Given the description of an element on the screen output the (x, y) to click on. 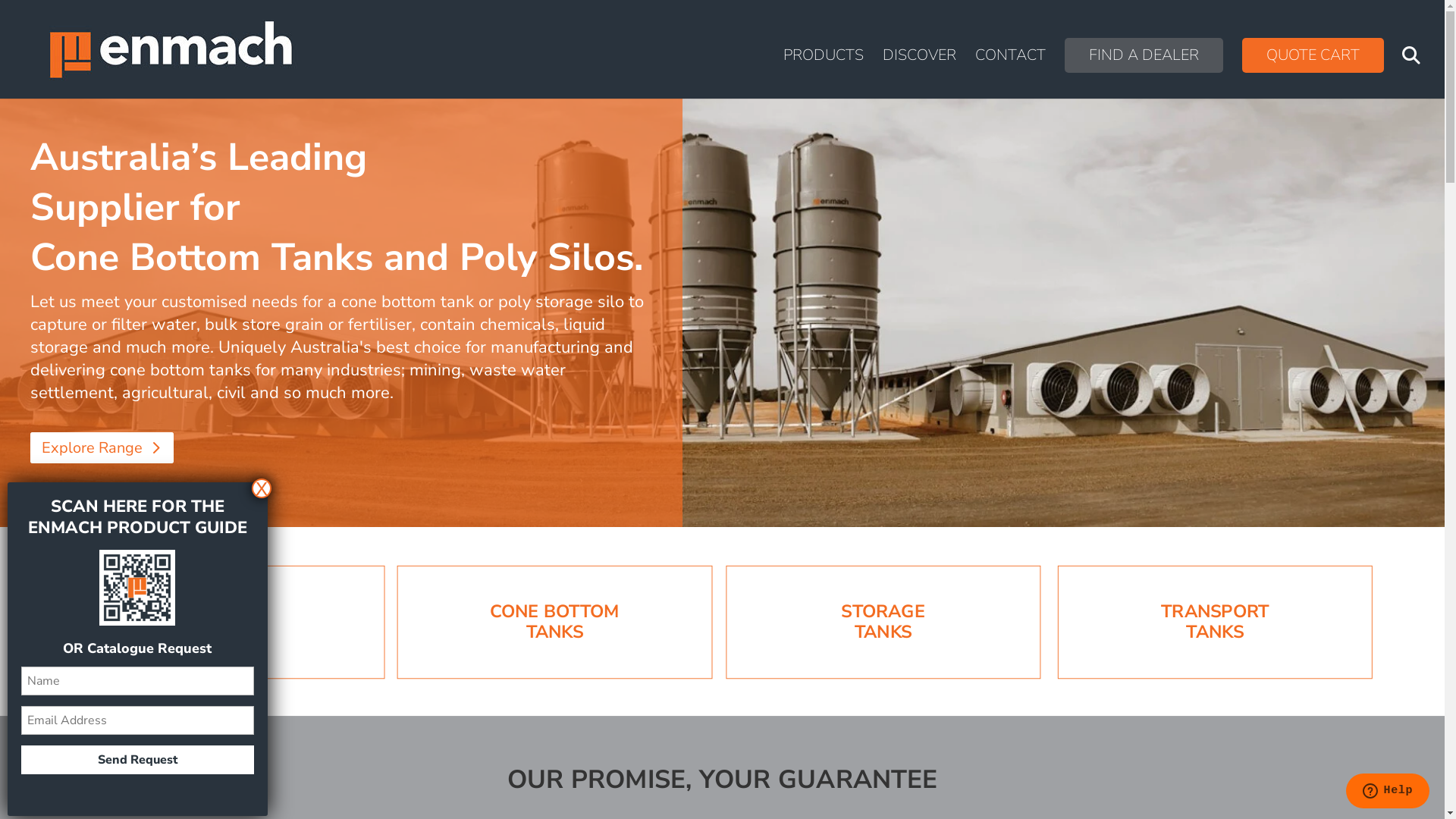
QUOTE CART Element type: text (1312, 54)
X Element type: text (261, 488)
CONTACT Element type: text (1010, 74)
Send Request Element type: text (137, 759)
Opens a widget where you can chat to one of our agents Element type: hover (1387, 792)
FIND A DEALER Element type: text (1143, 54)
Explore Range Element type: text (101, 447)
DISCOVER Element type: text (919, 74)
PRODUCTS Element type: text (823, 74)
